Given the description of an element on the screen output the (x, y) to click on. 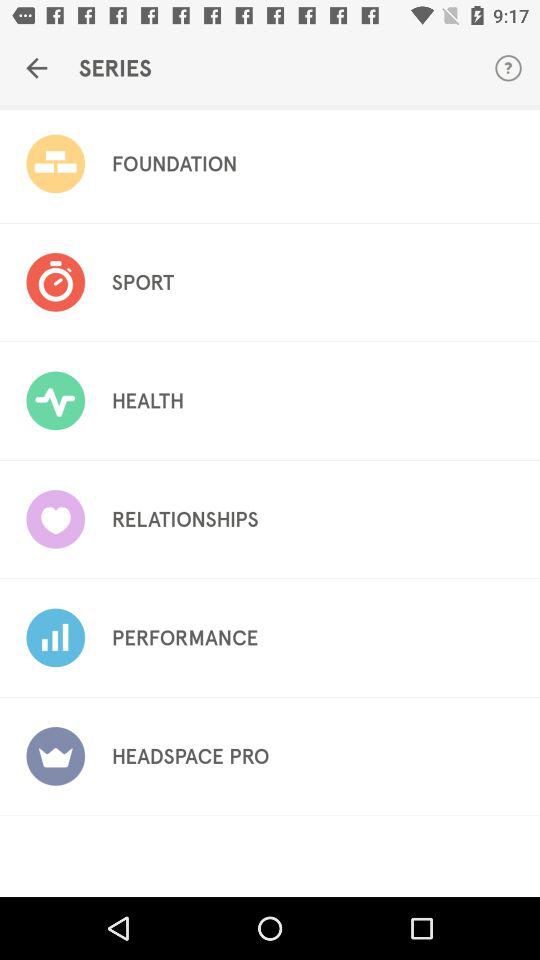
select the sport icon (142, 282)
